Given the description of an element on the screen output the (x, y) to click on. 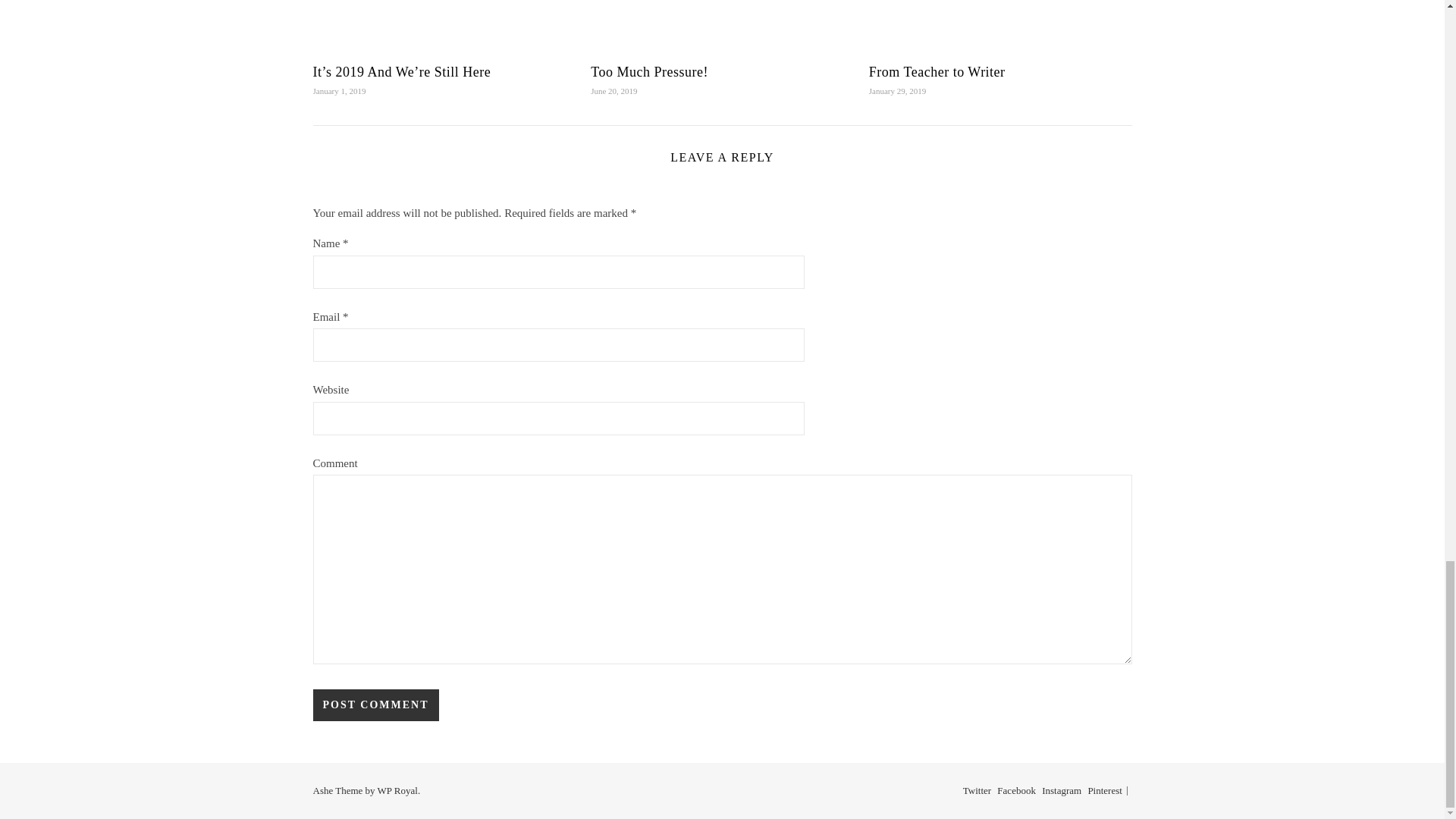
WP Royal (397, 790)
Facebook (1016, 790)
Post Comment (375, 705)
Twitter (976, 790)
Post Comment (375, 705)
Instagram (1061, 790)
Too Much Pressure! (649, 71)
Pinterest (1104, 790)
From Teacher to Writer (937, 71)
